Given the description of an element on the screen output the (x, y) to click on. 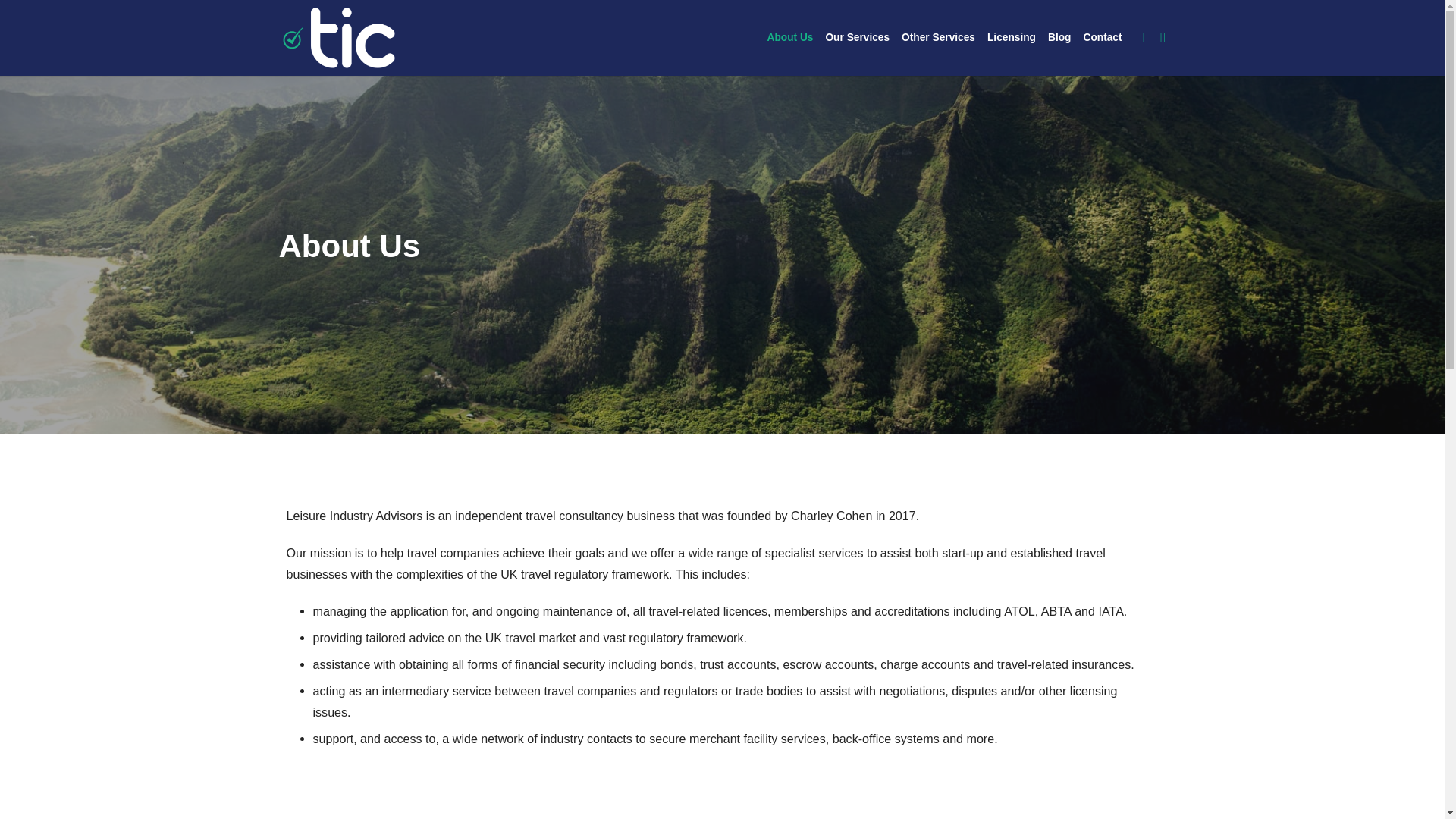
Instagram (1163, 37)
Our Services (856, 38)
Licensing (1011, 38)
About Us (789, 38)
Twitter (1145, 37)
Blog (1059, 38)
Other Services (938, 38)
Contact (1101, 38)
